Given the description of an element on the screen output the (x, y) to click on. 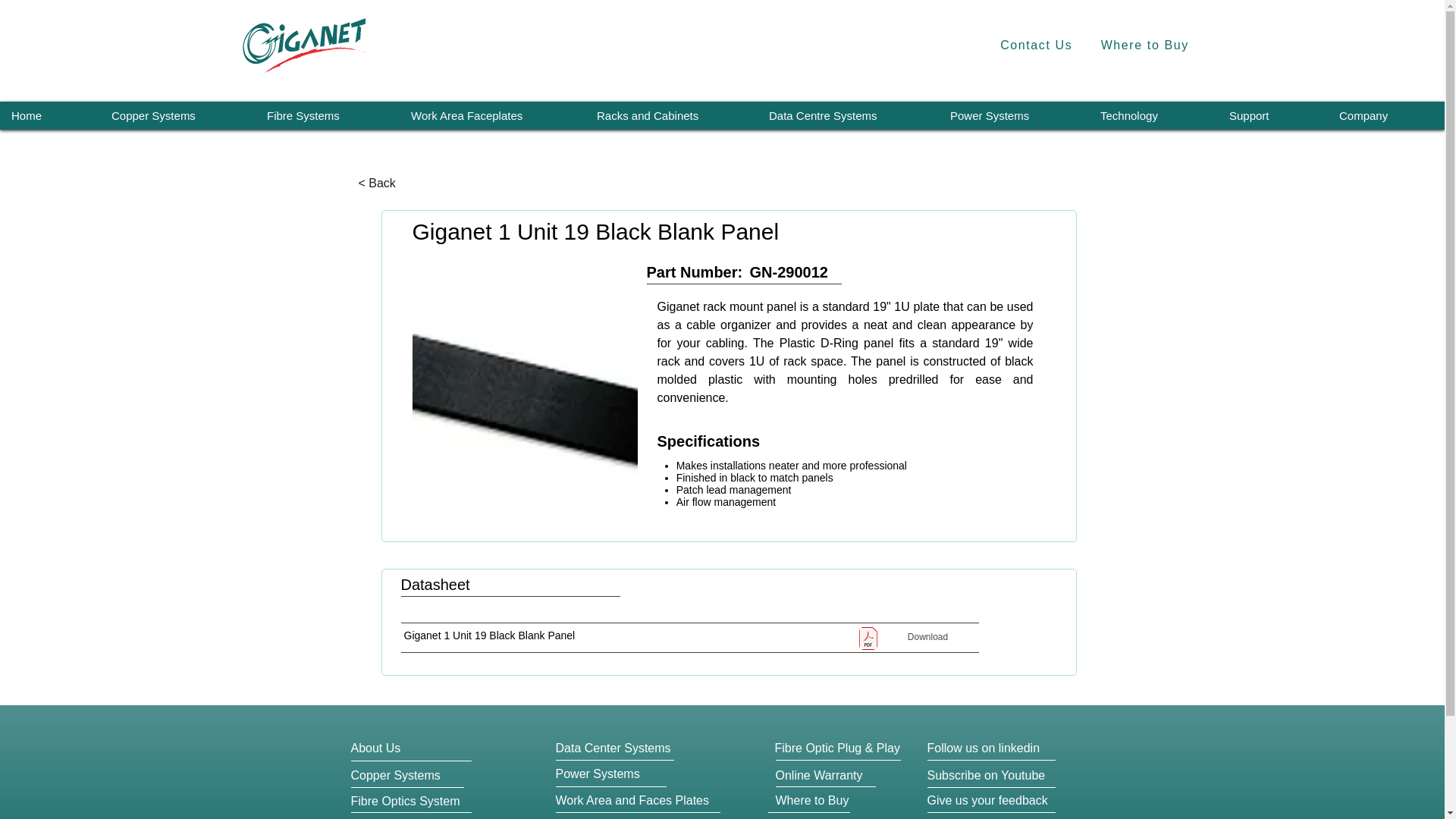
Home (49, 115)
Racks and Cabinets (671, 115)
Copper Systems (176, 115)
Where to Buy (1144, 45)
Work Area Faceplates (491, 115)
Data Centre Systems (847, 115)
Fibre Systems (326, 115)
290012.jpg (524, 401)
Contact Us (1035, 45)
